Given the description of an element on the screen output the (x, y) to click on. 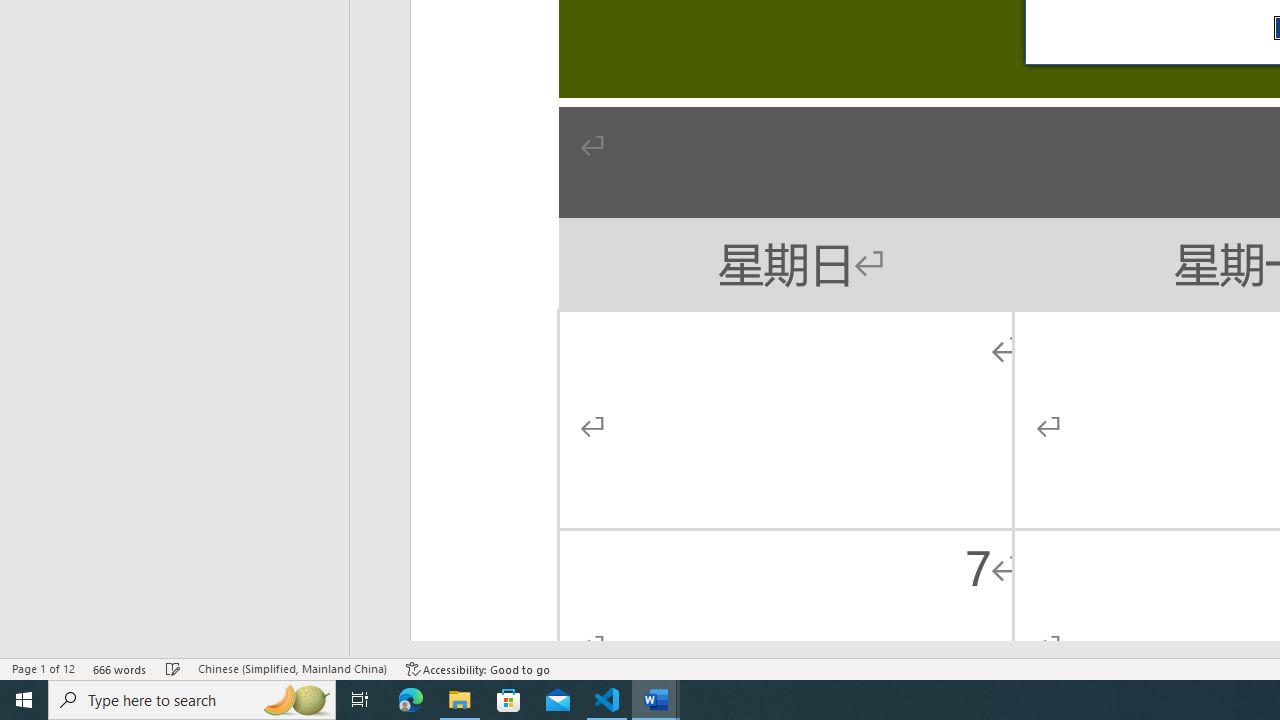
Microsoft Edge (411, 699)
